Given the description of an element on the screen output the (x, y) to click on. 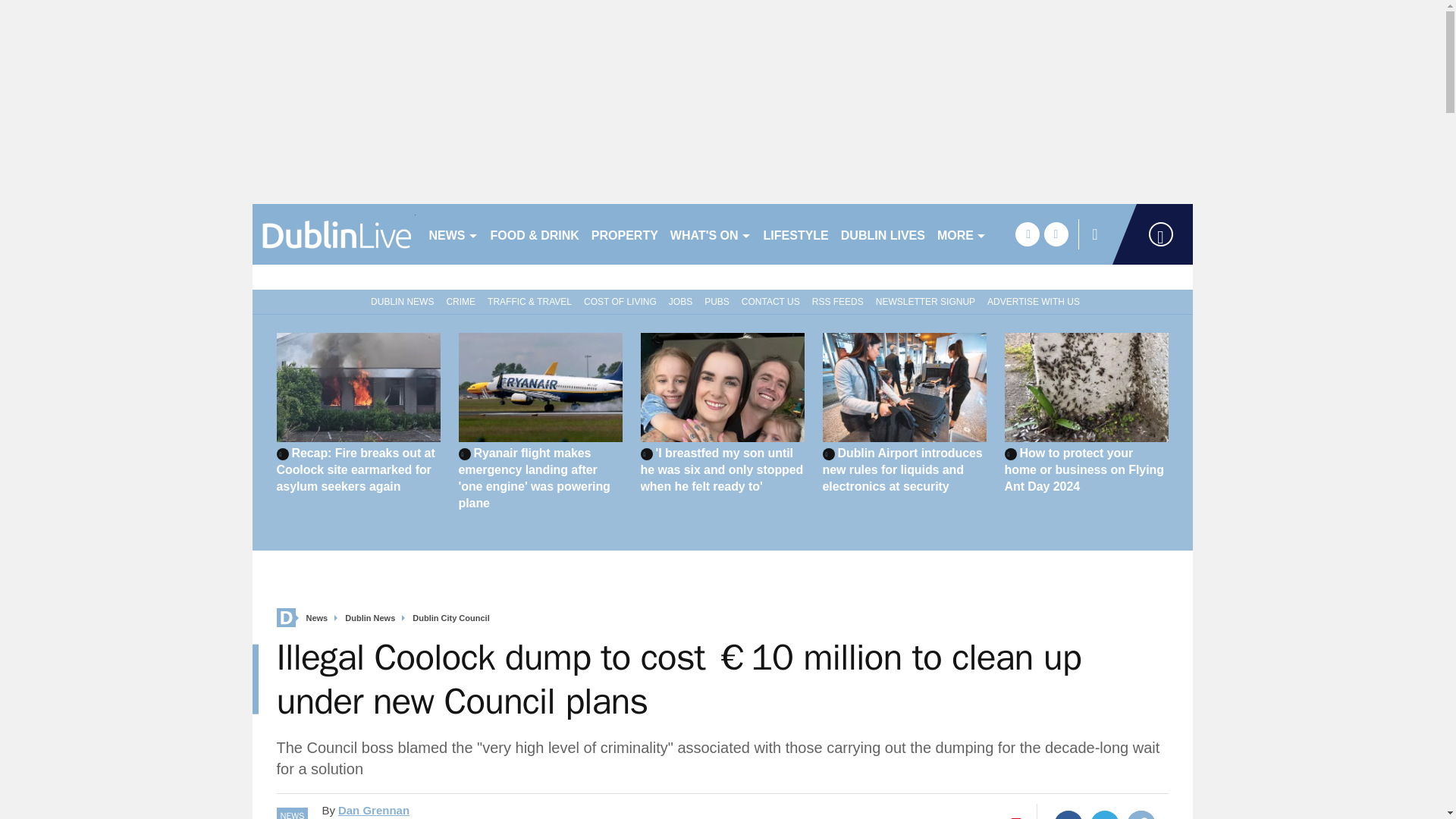
Facebook (1068, 814)
MORE (961, 233)
dublinlive (332, 233)
DUBLIN LIVES (882, 233)
PROPERTY (624, 233)
NEWS (453, 233)
LIFESTYLE (795, 233)
twitter (1055, 233)
facebook (1026, 233)
Twitter (1104, 814)
WHAT'S ON (710, 233)
